Given the description of an element on the screen output the (x, y) to click on. 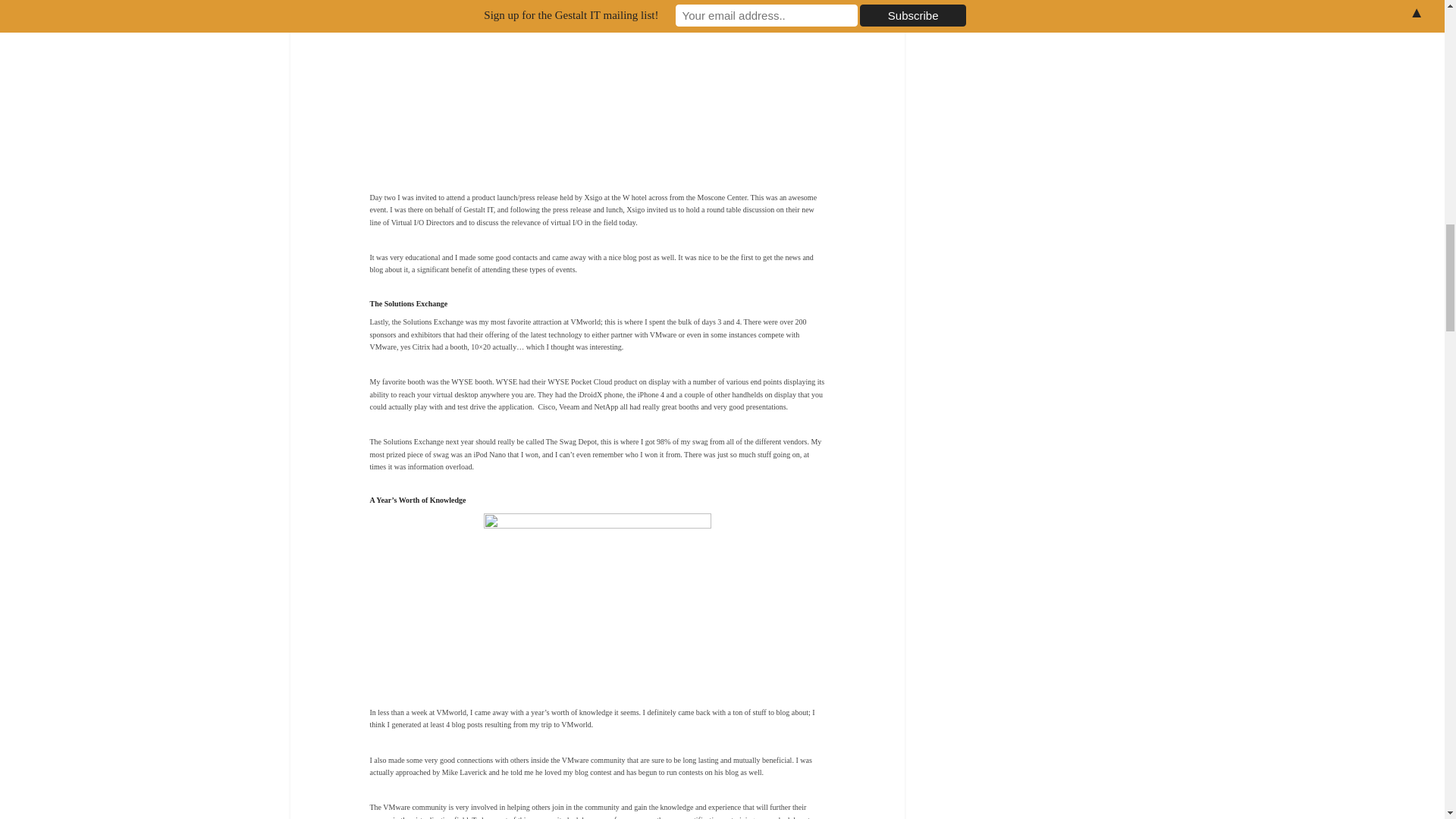
San Francisco 2010 011 (597, 598)
San Francisco 2010 012 (597, 84)
